Given the description of an element on the screen output the (x, y) to click on. 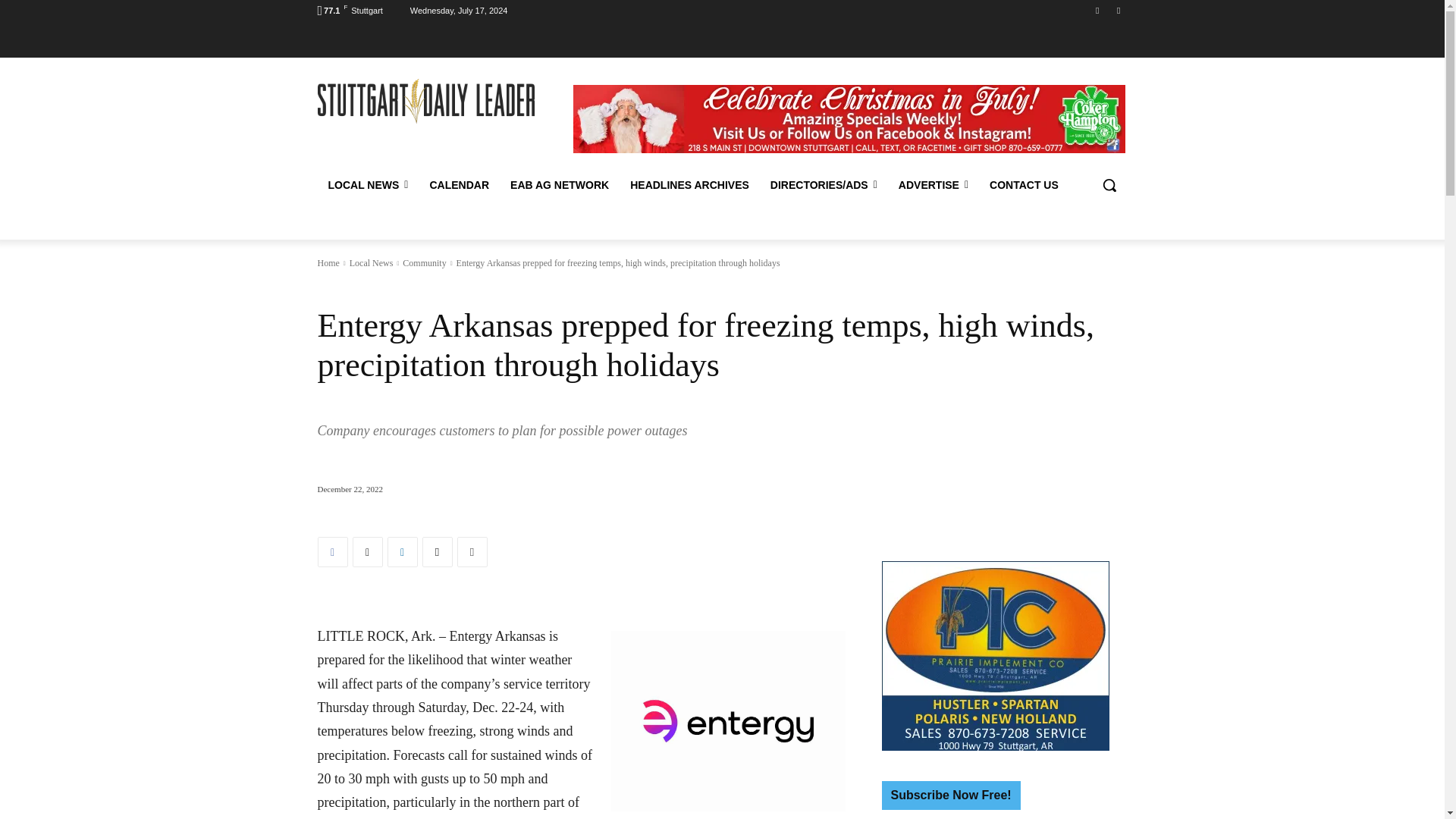
Facebook (332, 552)
Twitter (366, 552)
Facebook (1097, 9)
View all posts in Community (424, 262)
LOCAL NEWS (368, 185)
Twitter (1117, 9)
View all posts in Local News (371, 262)
